Given the description of an element on the screen output the (x, y) to click on. 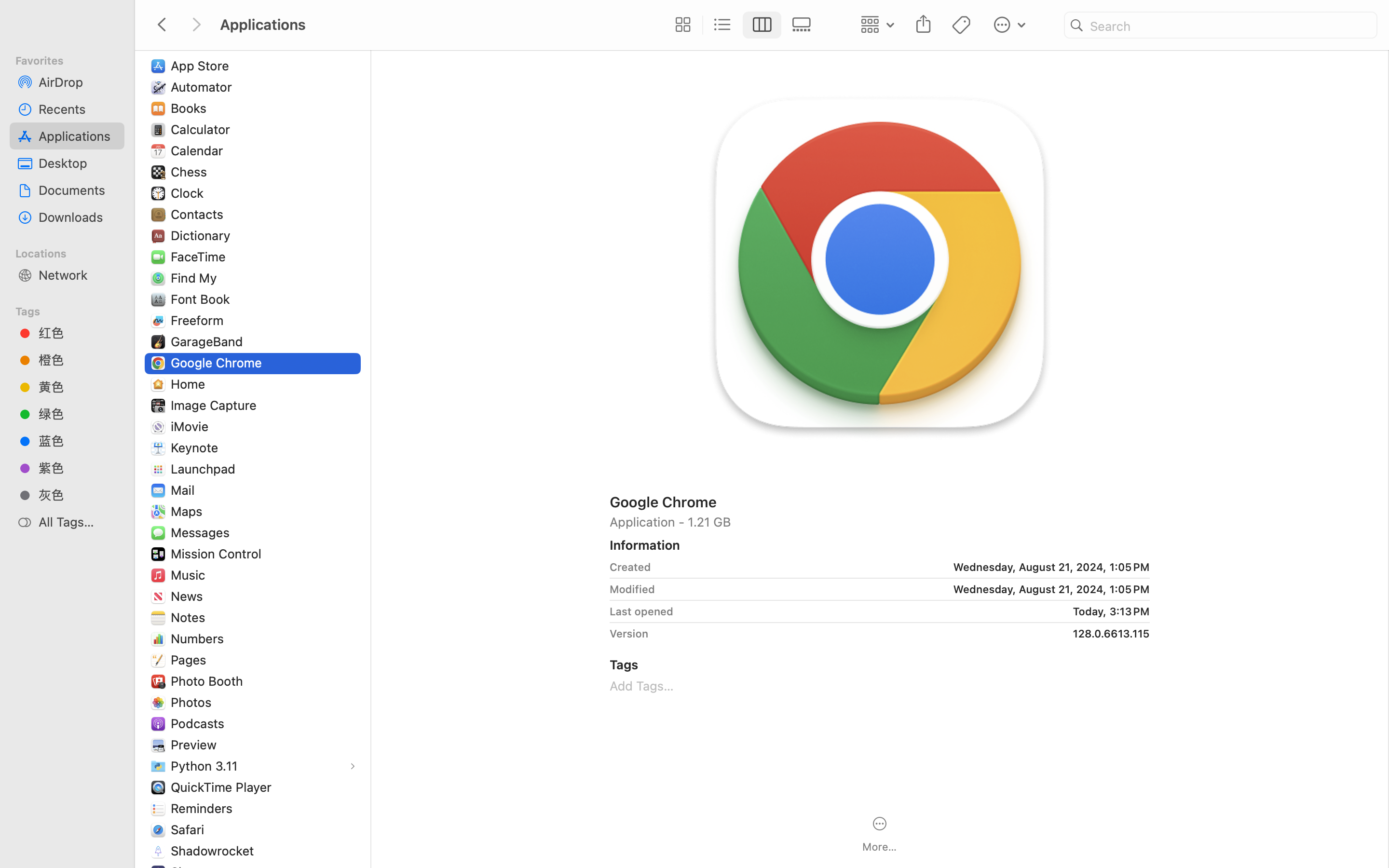
橙色 Element type: AXStaticText (77, 359)
Numbers Element type: AXTextField (199, 638)
App Store Element type: AXTextField (201, 65)
Documents Element type: AXStaticText (77, 189)
Application - 1.21 GB Element type: AXStaticText (879, 521)
